Given the description of an element on the screen output the (x, y) to click on. 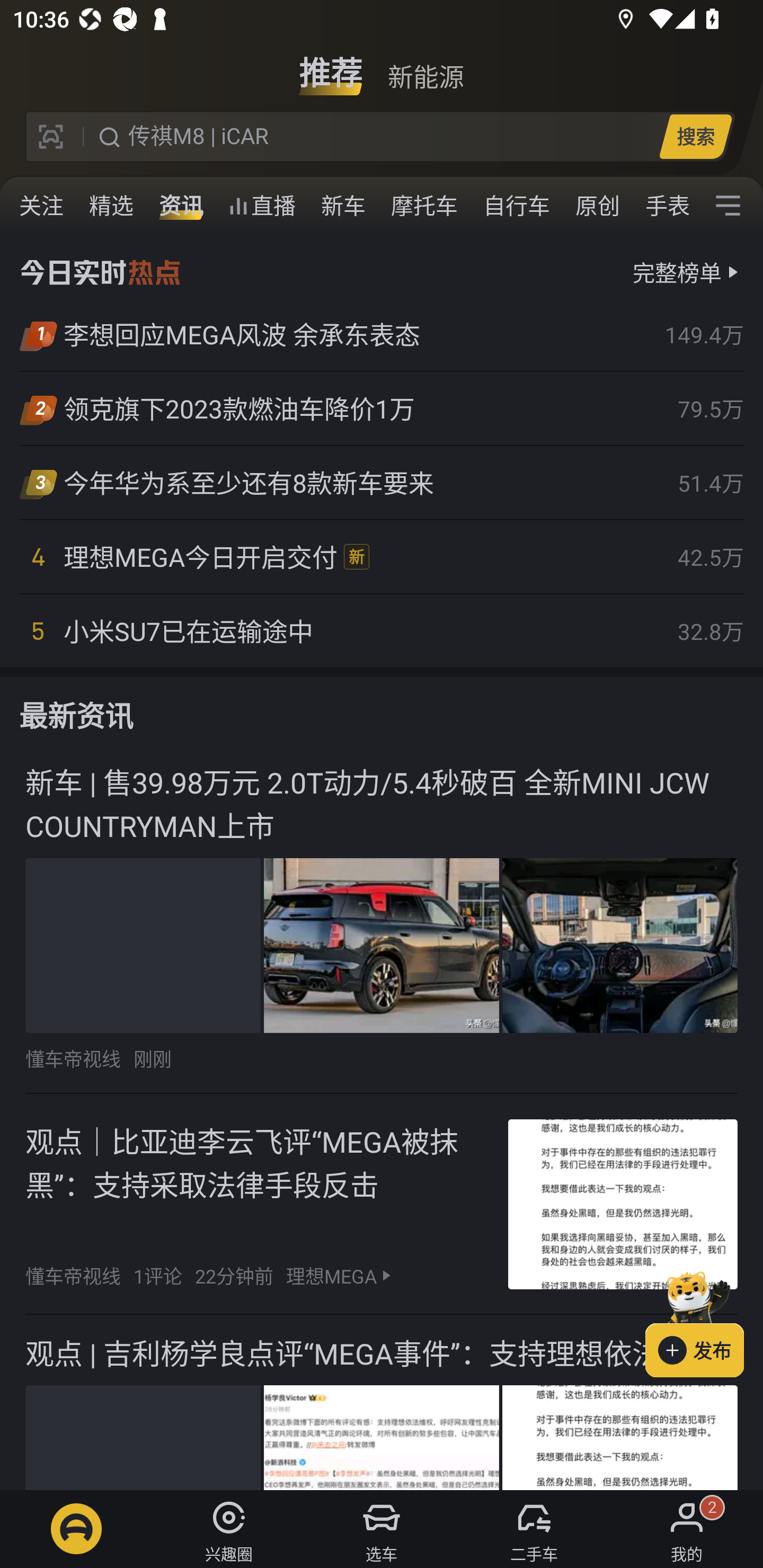
推荐 (330, 65)
新能源 (425, 65)
搜索 (695, 136)
关注 (41, 205)
精选 (111, 205)
资讯 (180, 205)
直播 (261, 205)
新车 (343, 205)
摩托车 (424, 205)
自行车 (516, 205)
原创 (597, 205)
手表 (663, 205)
 (727, 205)
完整榜单 (676, 271)
李想回应MEGA风波 余承东表态  149.4万 (381, 334)
领克旗下2023款燃油车降价1万  79.5万 (381, 408)
今年华为系至少还有8款新车要来  51.4万 (381, 482)
4 理想MEGA今日开启交付 新  42.5万 (381, 557)
5 小米SU7已在运输途中  32.8万 (381, 630)
理想MEGA (331, 1275)
发布 (704, 1320)
观点 | 吉利杨学良点评“MEGA事件”：支持理想依法维权 (381, 1402)
 兴趣圈 (228, 1528)
 选车 (381, 1528)
 二手车 (533, 1528)
 我的 (686, 1528)
